Given the description of an element on the screen output the (x, y) to click on. 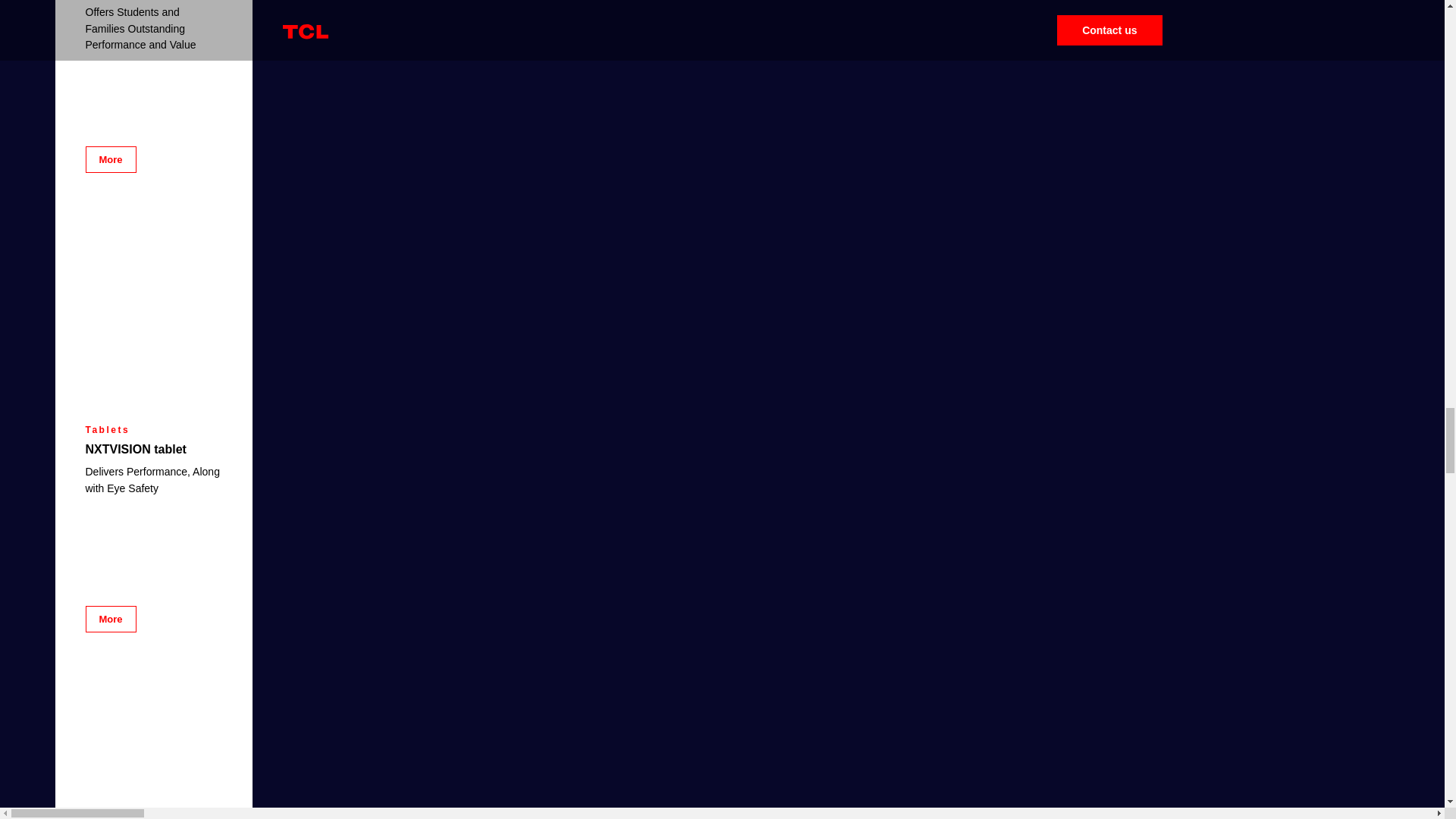
More (109, 619)
More (109, 159)
